Given the description of an element on the screen output the (x, y) to click on. 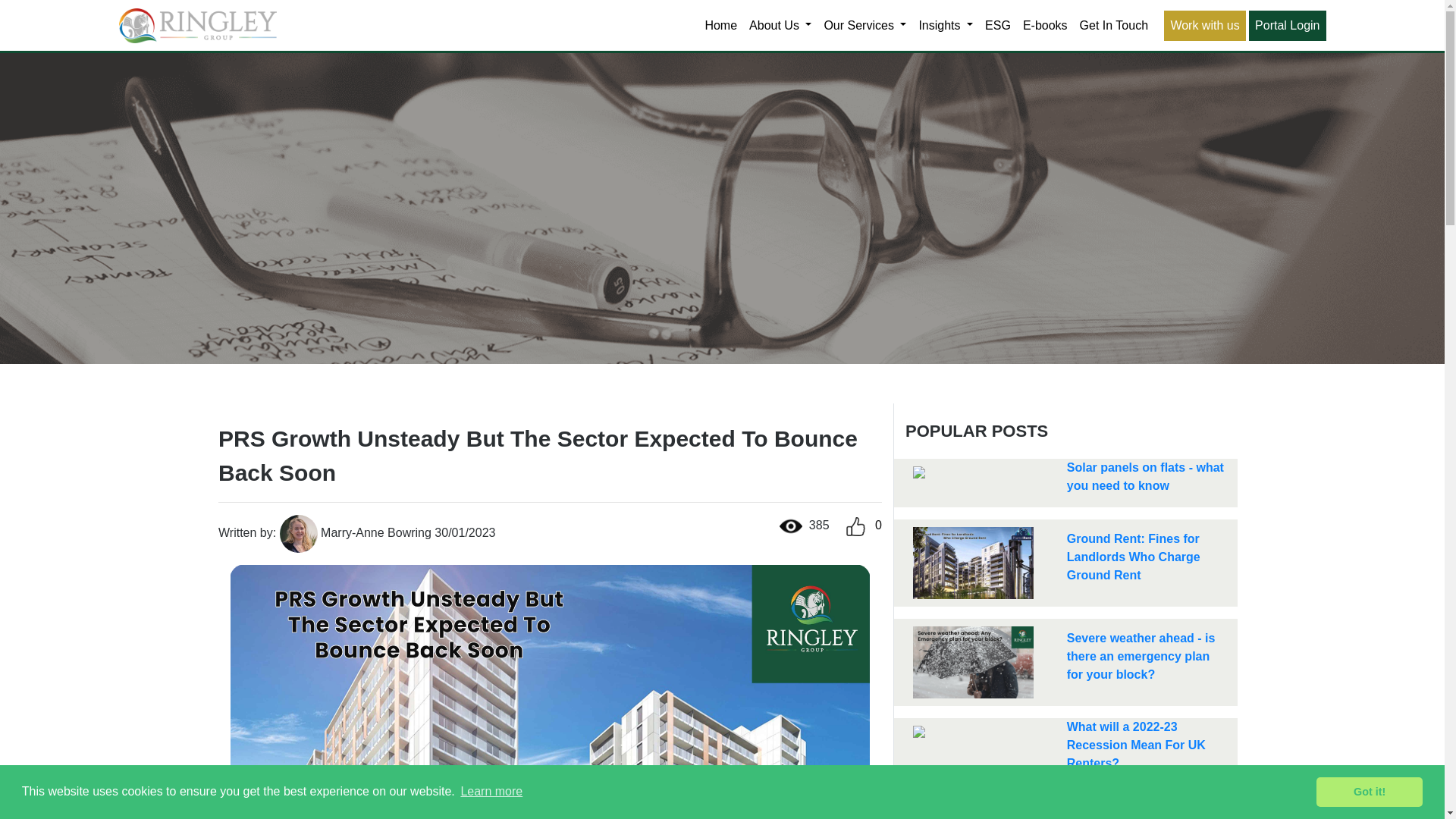
Our Services (864, 25)
About Us (779, 25)
Learn more (491, 791)
Got it! (1369, 791)
Home (720, 25)
